Given the description of an element on the screen output the (x, y) to click on. 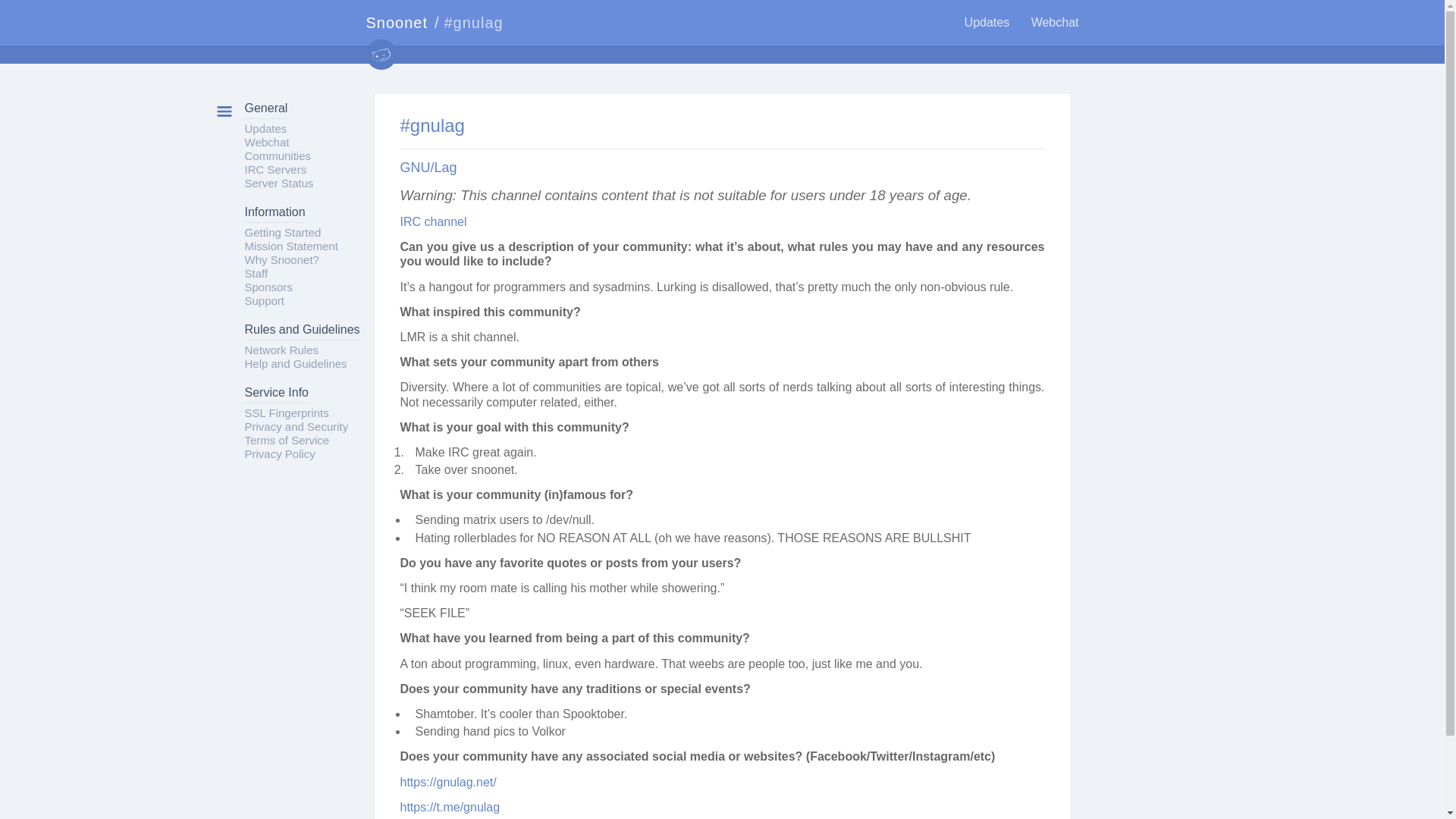
Webchat (266, 141)
SSL Fingerprints (286, 412)
Mission Statement (290, 245)
IRC Servers (274, 169)
Updates (265, 128)
Server Status (278, 182)
Help and Guidelines (295, 363)
Sponsors (268, 286)
Privacy and Security (295, 426)
Privacy Policy (279, 453)
Communities (277, 155)
Why Snoonet? (281, 259)
Webchat (1054, 21)
Rules and Guidelines (301, 331)
Information (274, 213)
